Given the description of an element on the screen output the (x, y) to click on. 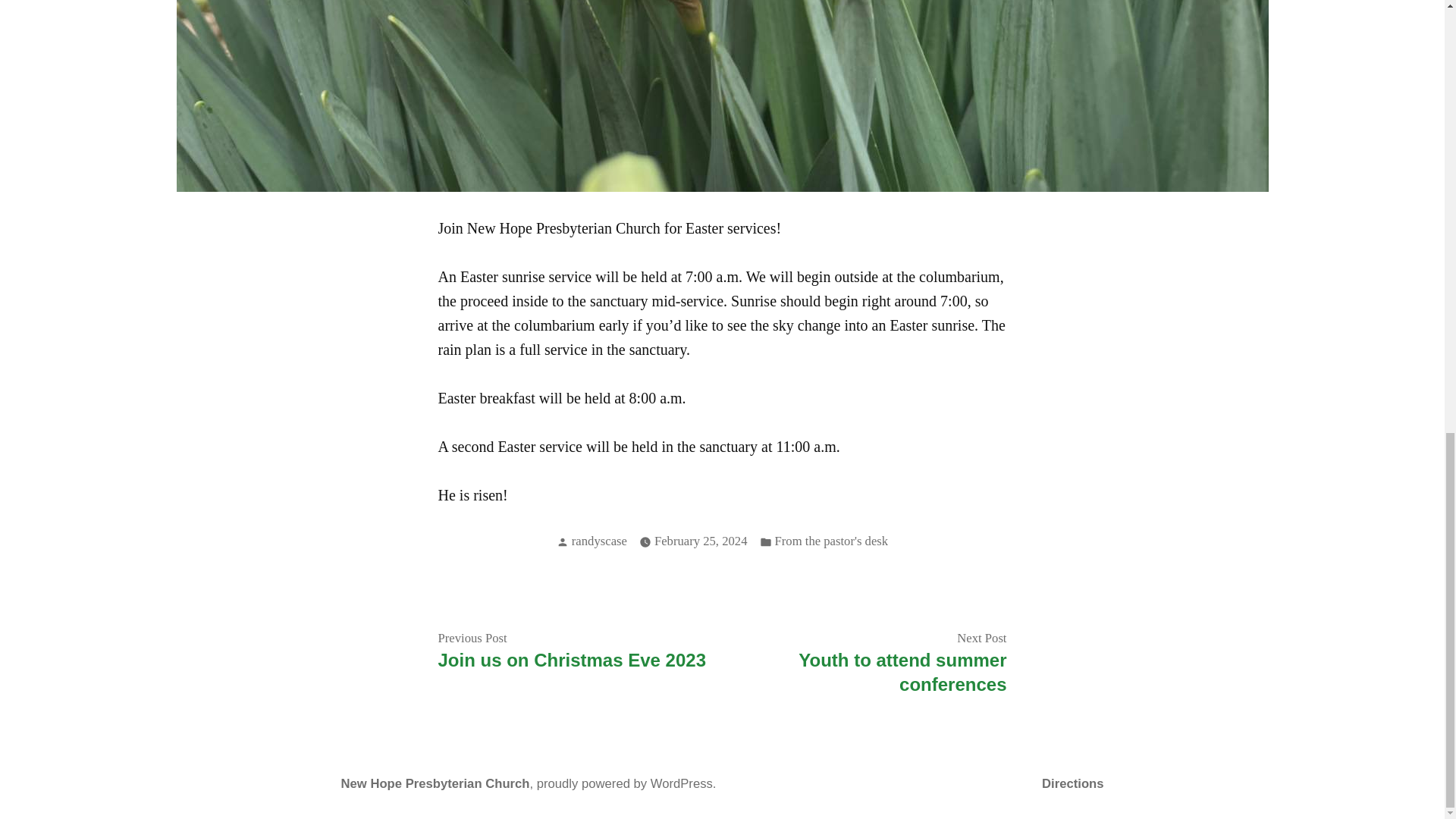
randyscase (599, 540)
February 25, 2024 (700, 541)
From the pastor's desk (831, 541)
